Given the description of an element on the screen output the (x, y) to click on. 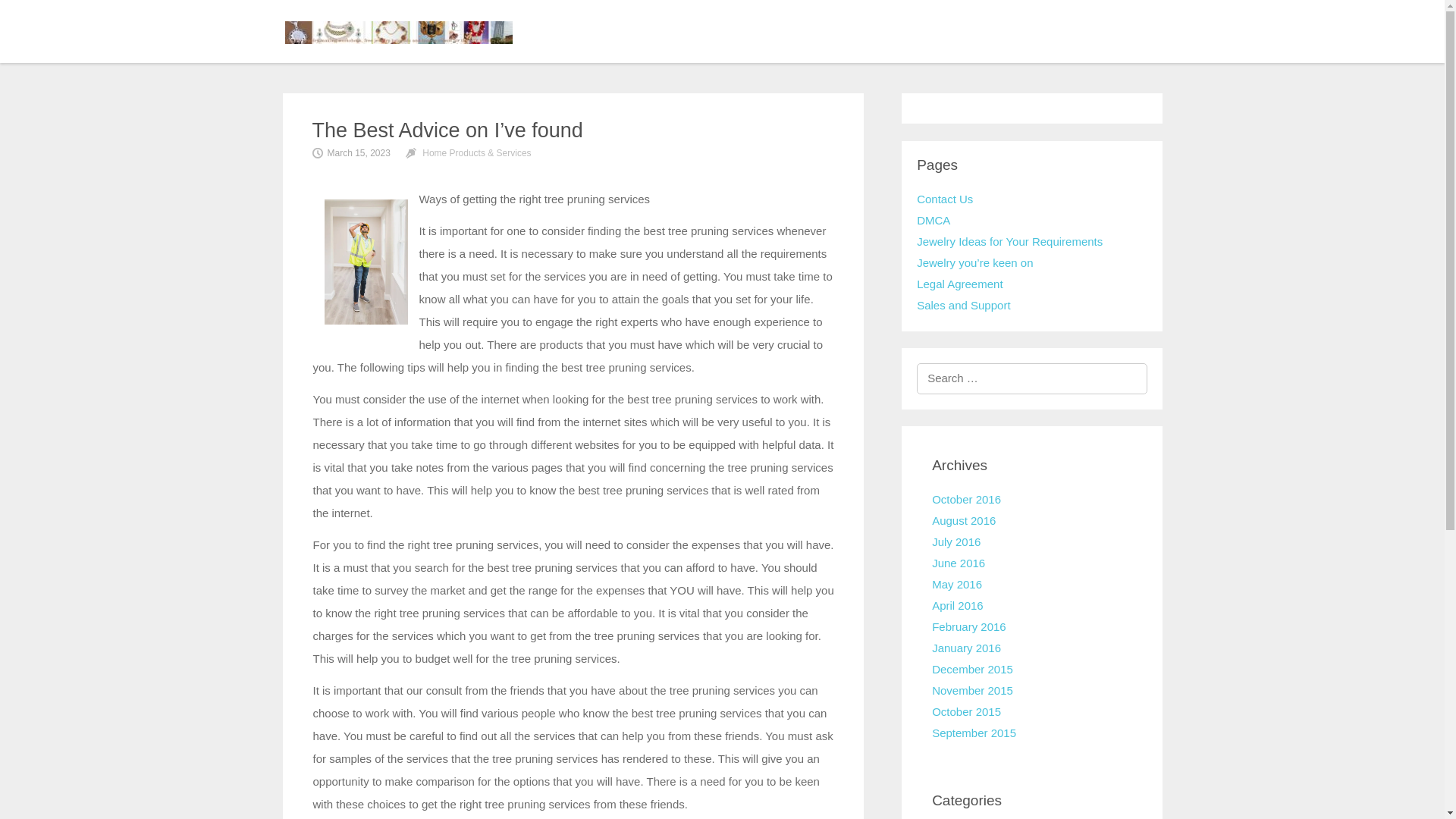
Sales and Support (963, 305)
December 2015 (972, 668)
June 2016 (958, 562)
September 2015 (973, 732)
Jewelry Ideas for Your Requirements (1009, 241)
May 2016 (956, 584)
August 2016 (963, 520)
April 2016 (957, 604)
Contact Us (944, 198)
February 2016 (968, 626)
January 2016 (966, 647)
October 2015 (966, 711)
November 2015 (972, 689)
Search (123, 15)
July 2016 (955, 541)
